Given the description of an element on the screen output the (x, y) to click on. 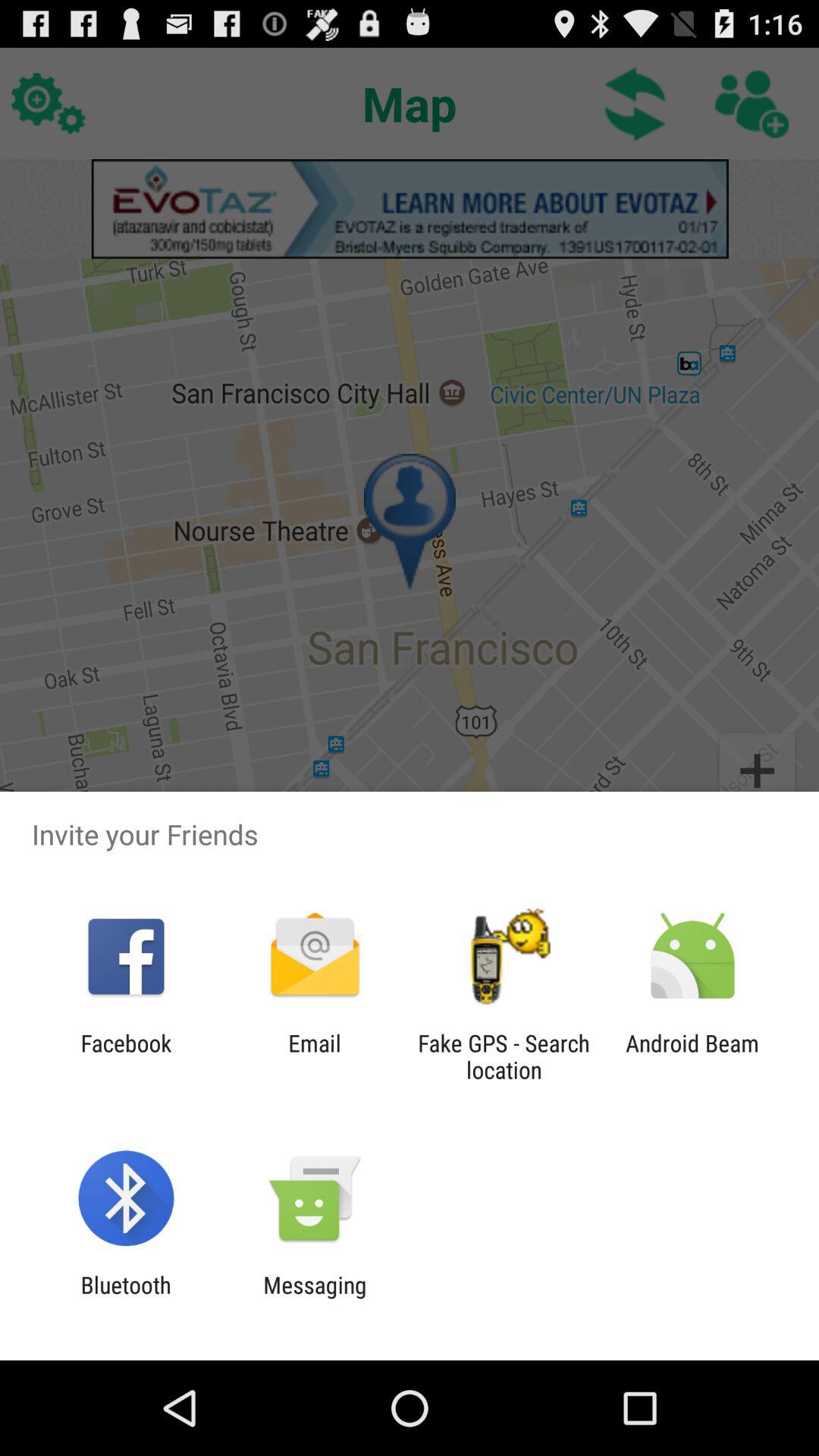
jump until the bluetooth item (125, 1298)
